Given the description of an element on the screen output the (x, y) to click on. 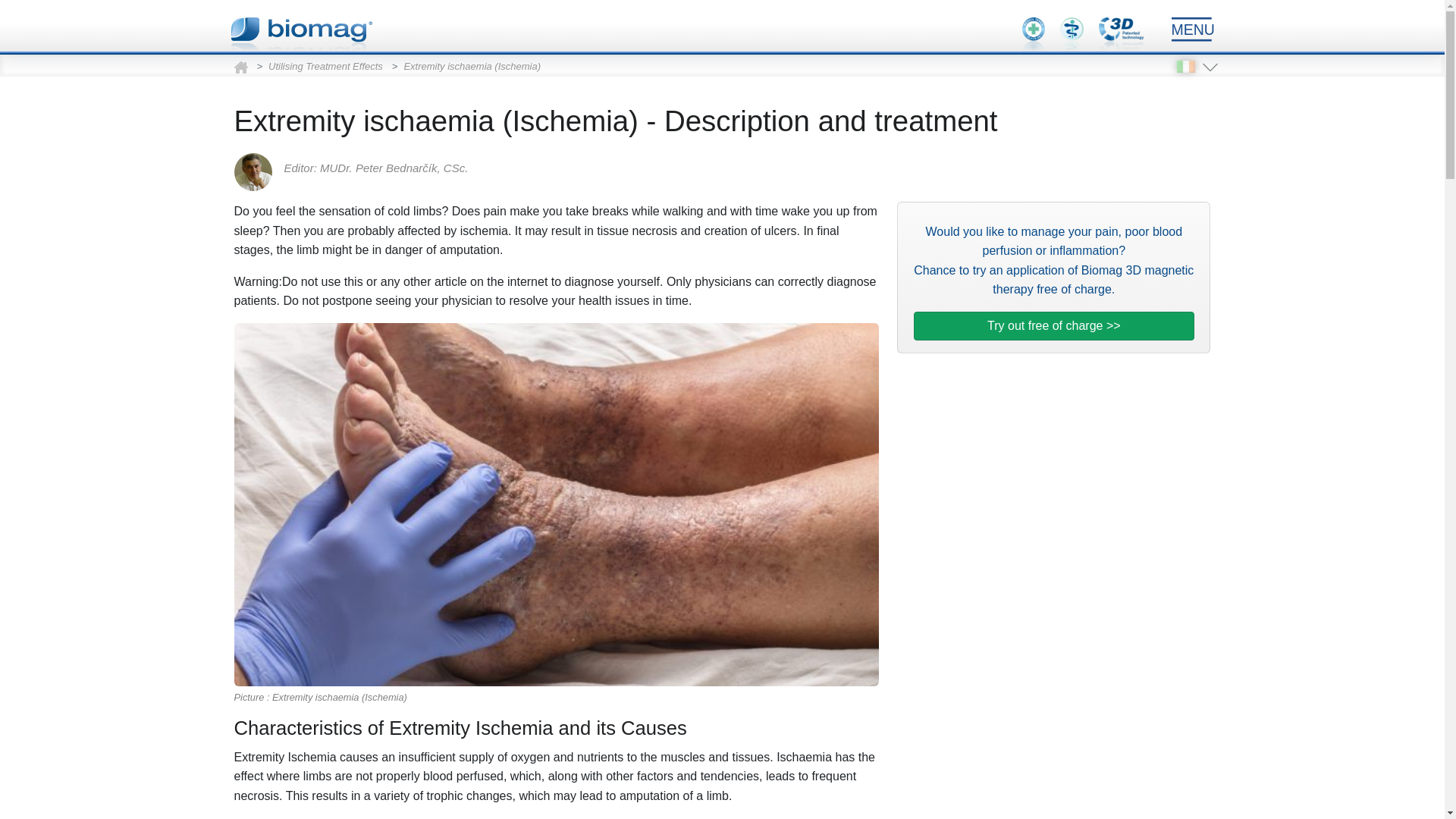
EN IE (1185, 66)
3D patented technology therapy (1120, 34)
Medical device class IIa (1032, 34)
Utilising Treatment Effects (324, 66)
